Given the description of an element on the screen output the (x, y) to click on. 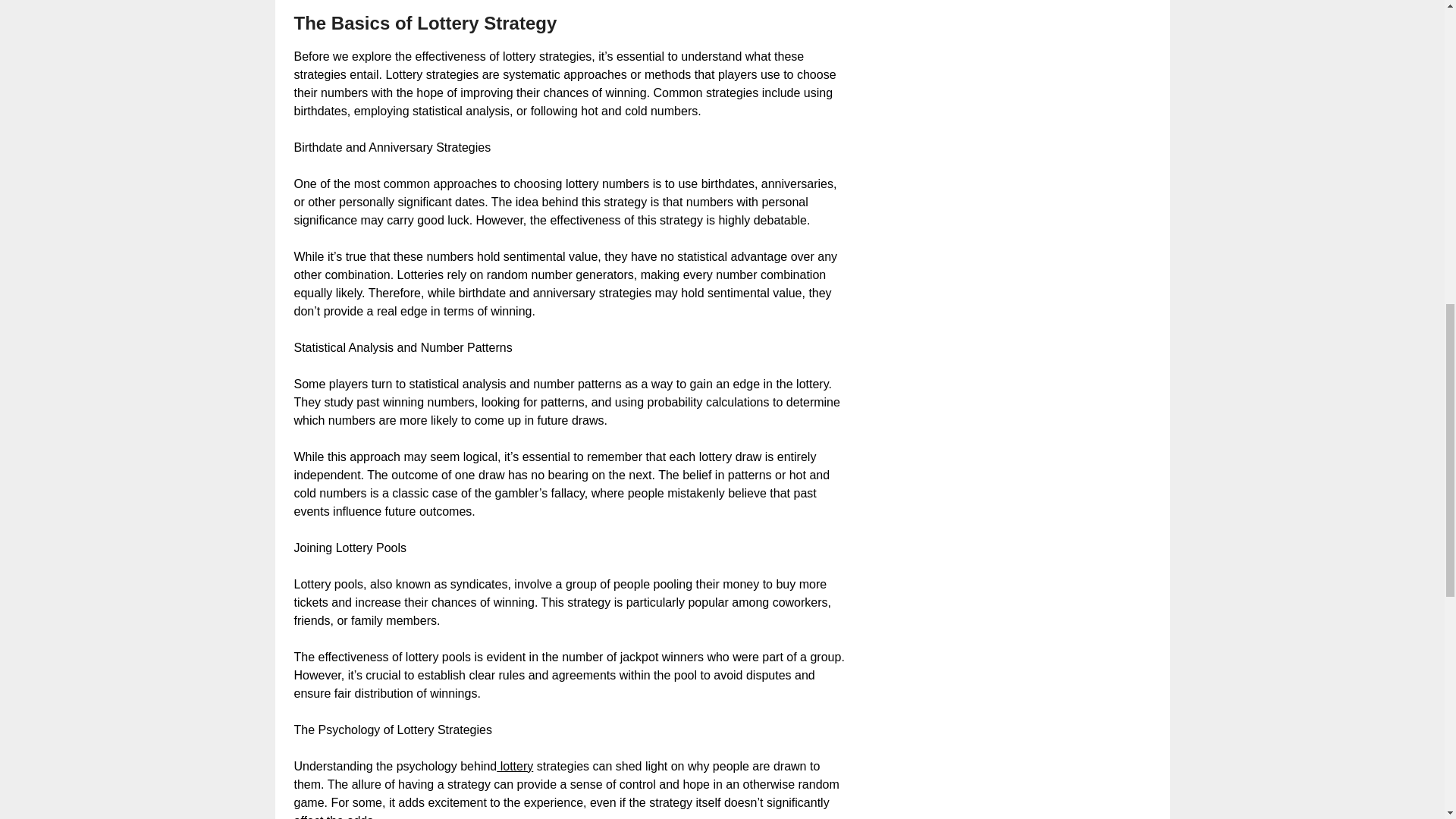
lottery (514, 766)
